Given the description of an element on the screen output the (x, y) to click on. 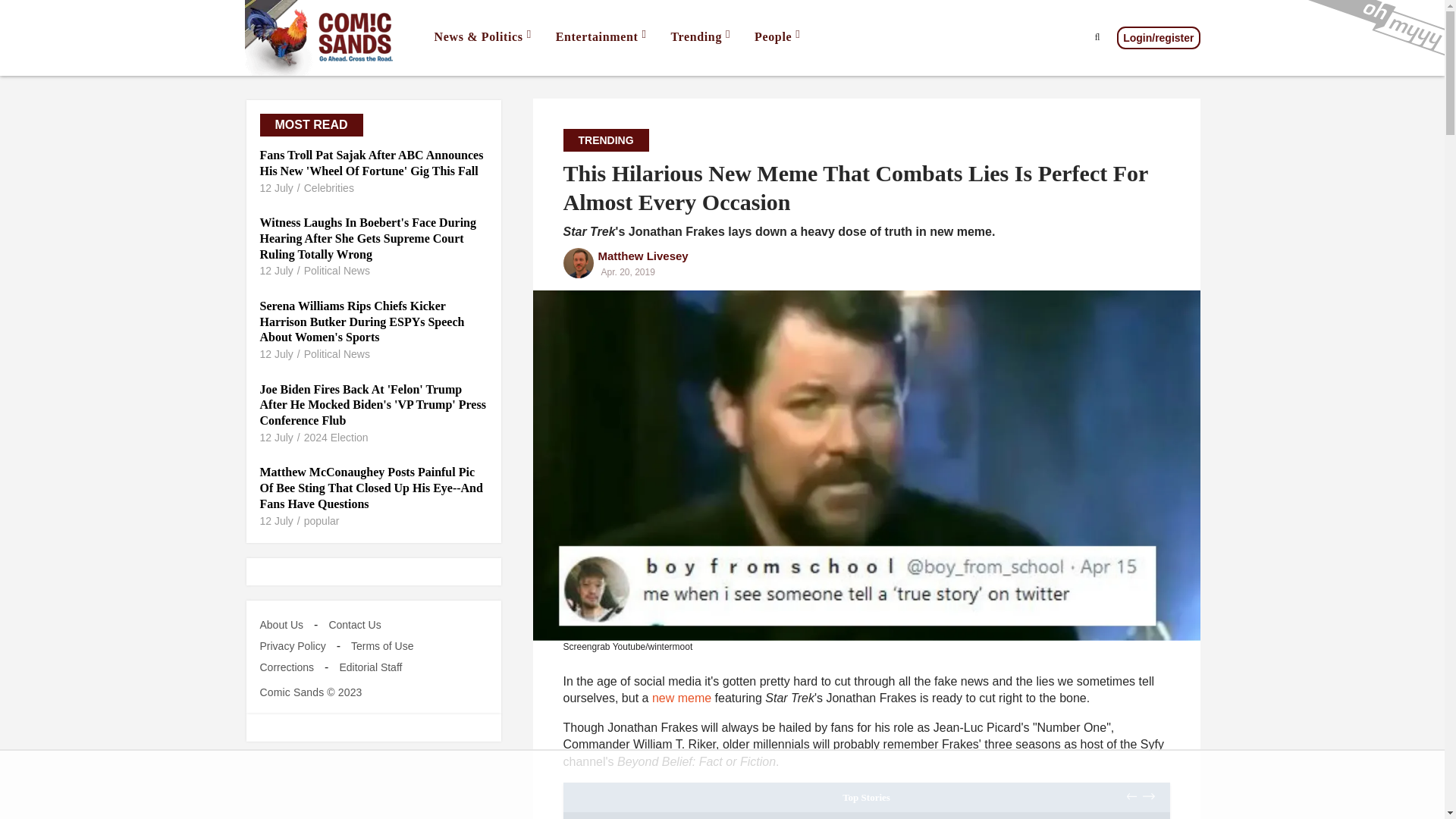
Comic Sands (320, 38)
